Given the description of an element on the screen output the (x, y) to click on. 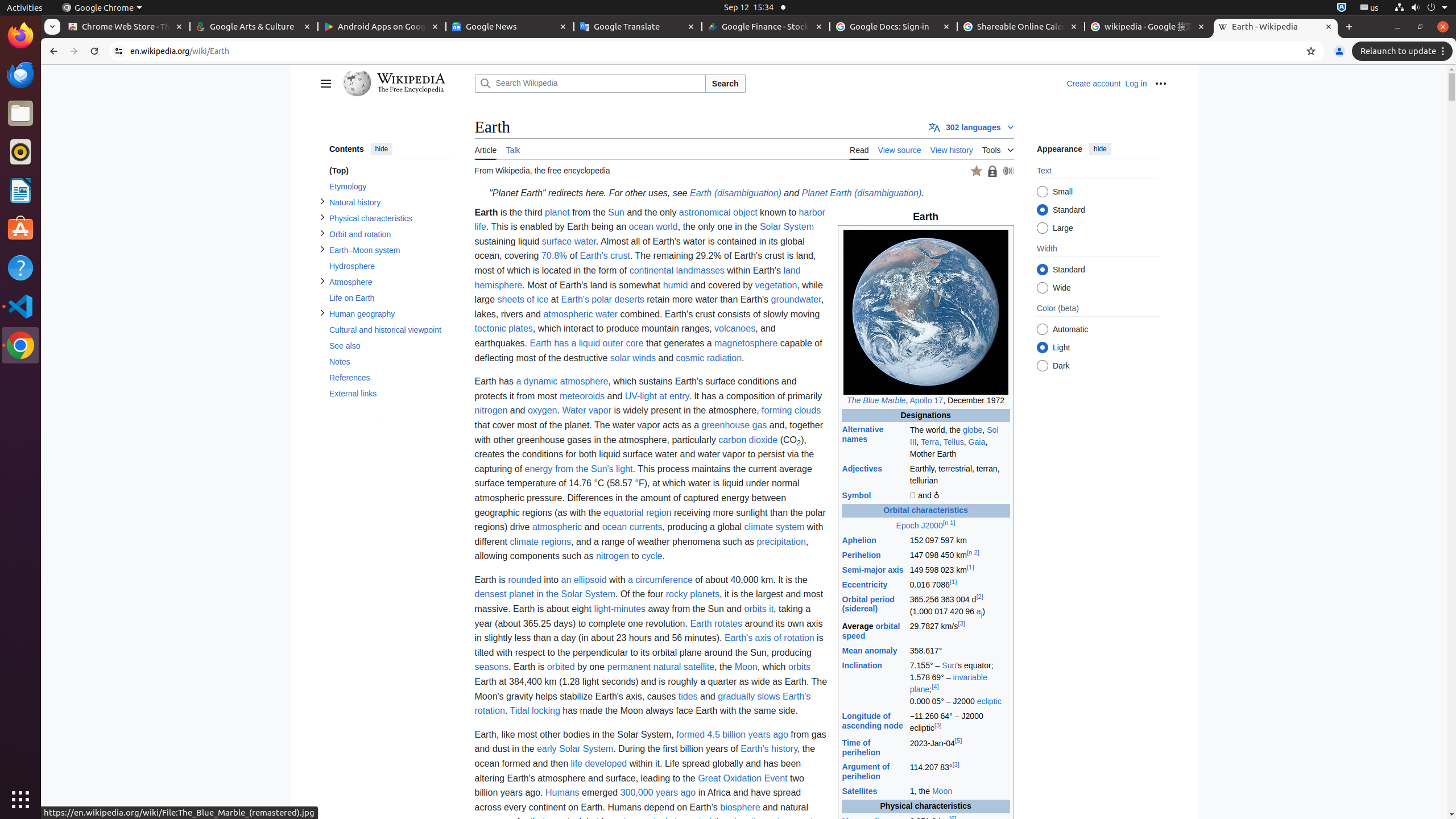
29.7827 km/s[3] Element type: table-cell (959, 630)
Reload Element type: push-button (94, 50)
358.617° Element type: table-cell (959, 650)
Earth's crust Element type: link (604, 255)
j Element type: link (981, 611)
